Given the description of an element on the screen output the (x, y) to click on. 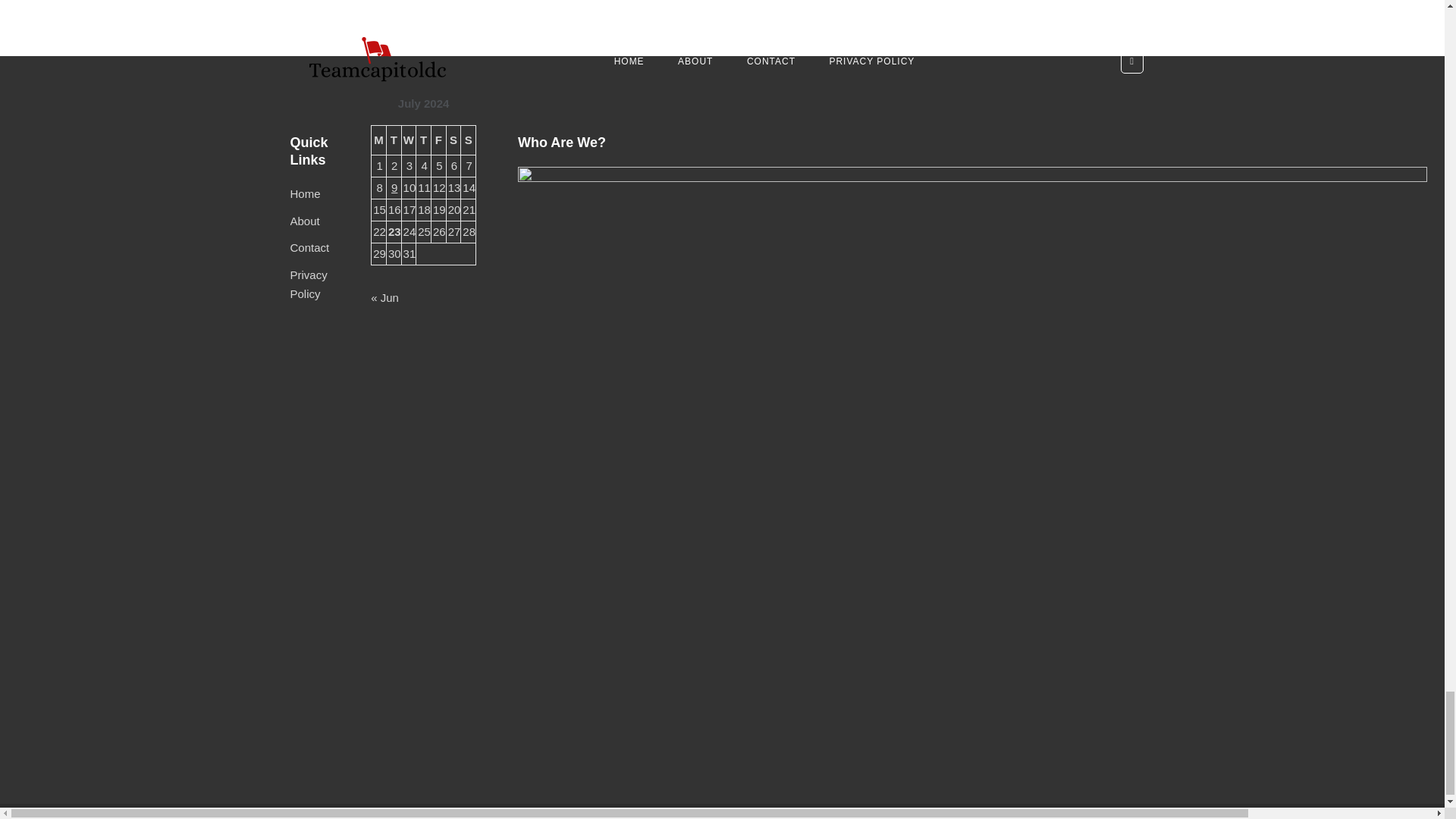
Saturday (453, 139)
Sunday (468, 139)
Wednesday (408, 139)
Monday (379, 139)
Thursday (423, 139)
Tuesday (393, 139)
Friday (437, 139)
